Given the description of an element on the screen output the (x, y) to click on. 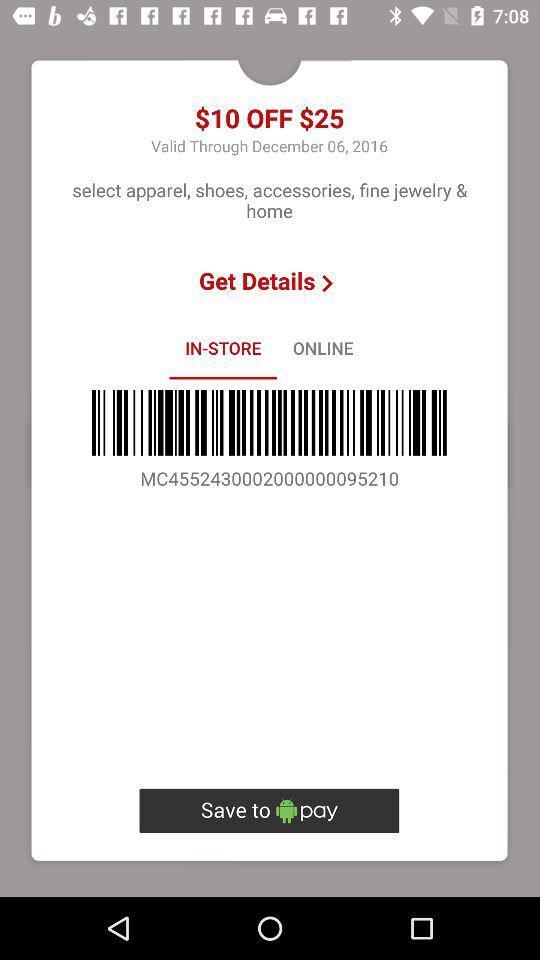
click the icon below mc4552430002000000095210 (269, 810)
